Given the description of an element on the screen output the (x, y) to click on. 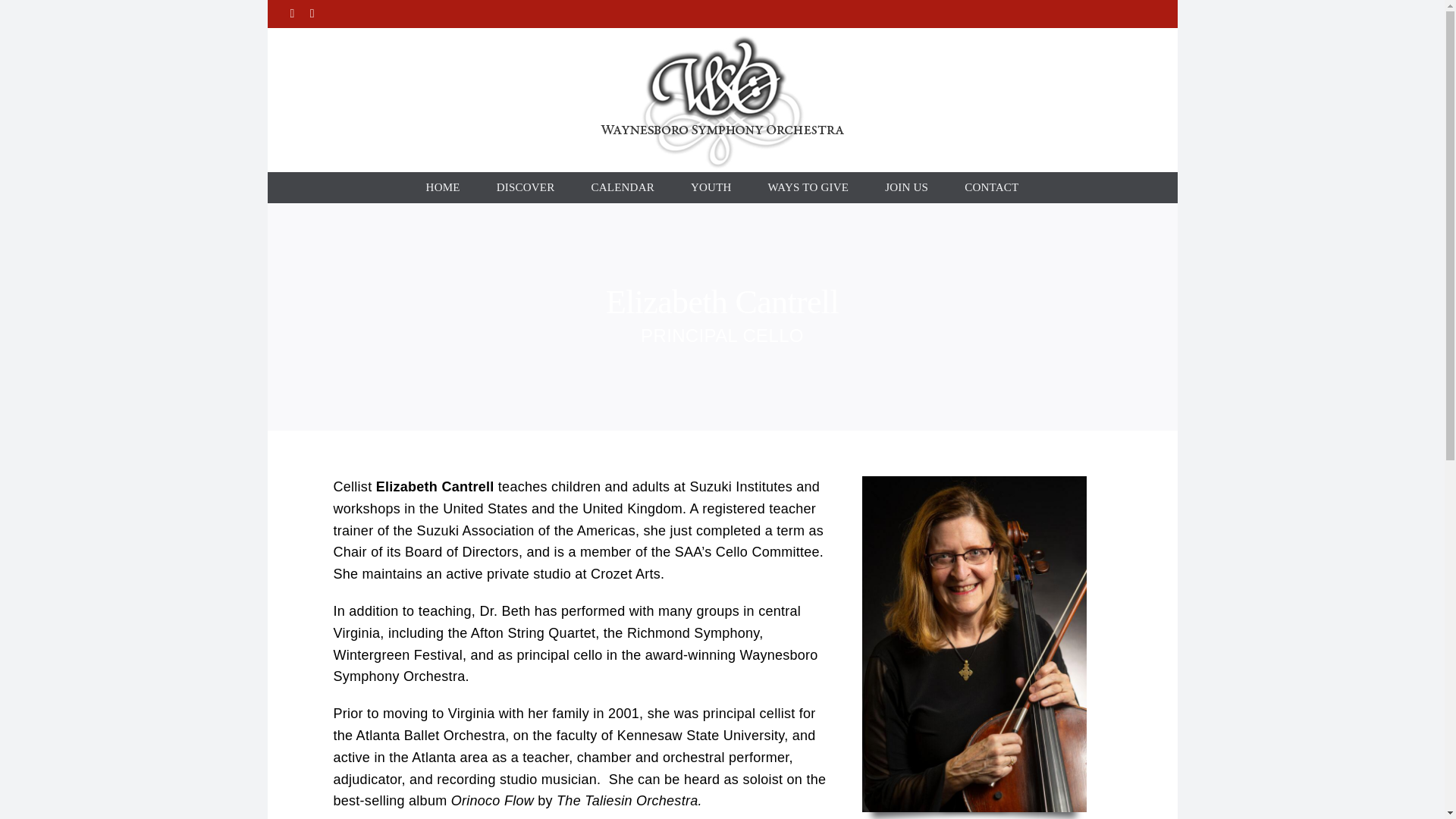
YOUTH (710, 186)
CALENDAR (621, 186)
HOME (443, 186)
Beth Cantrell, Principal Cello (973, 482)
JOIN US (906, 186)
CONTACT (991, 186)
WAYS TO GIVE (808, 186)
DISCOVER (526, 186)
